Given the description of an element on the screen output the (x, y) to click on. 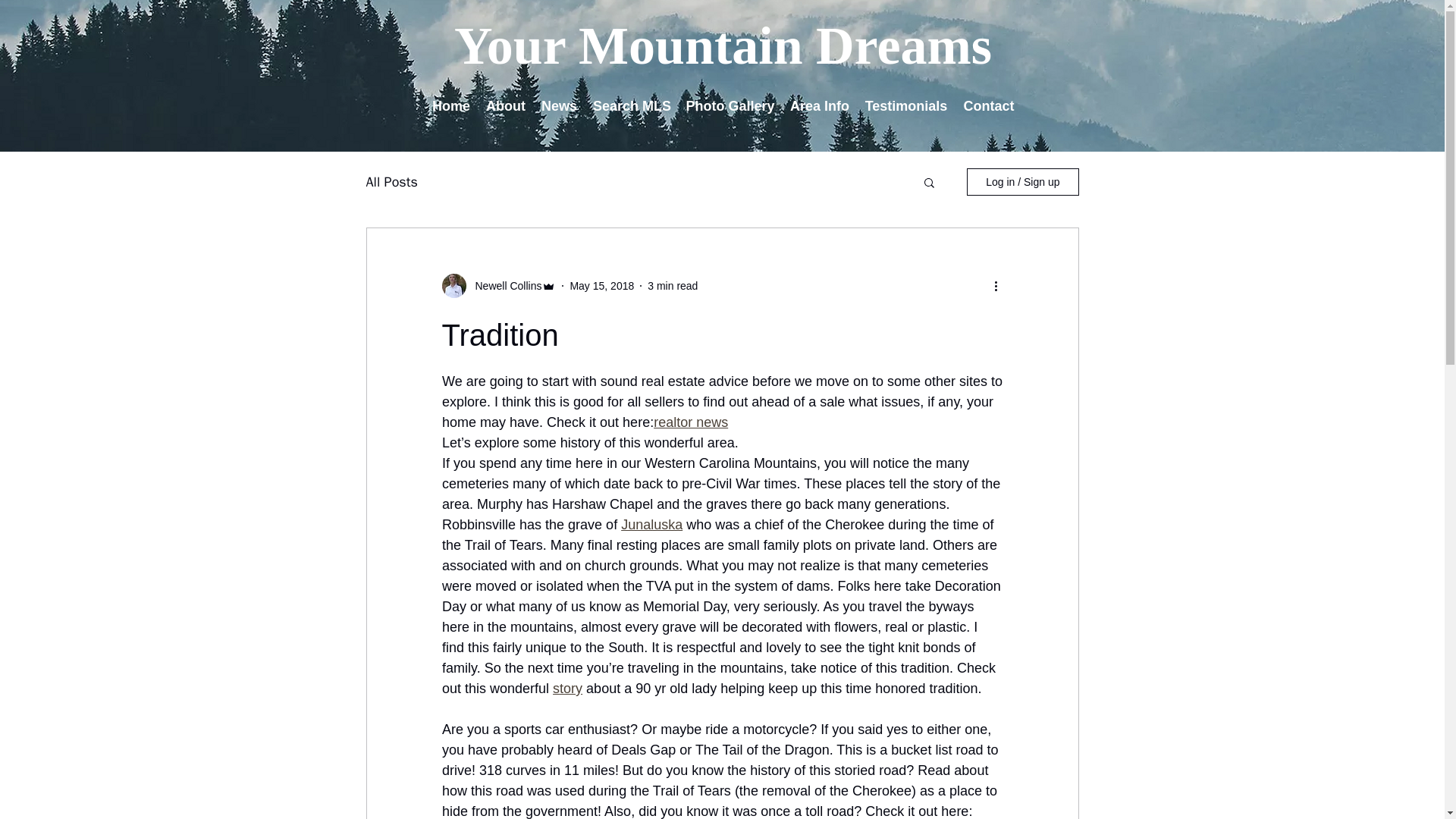
Contact (988, 106)
May 15, 2018 (601, 285)
Junaluska (651, 524)
Testimonials (906, 106)
Home (451, 106)
News (558, 106)
Newell Collins (503, 285)
Photo Gallery (730, 106)
realtor news (690, 421)
story (567, 688)
All Posts (390, 181)
3 min read (672, 285)
About (505, 106)
